Given the description of an element on the screen output the (x, y) to click on. 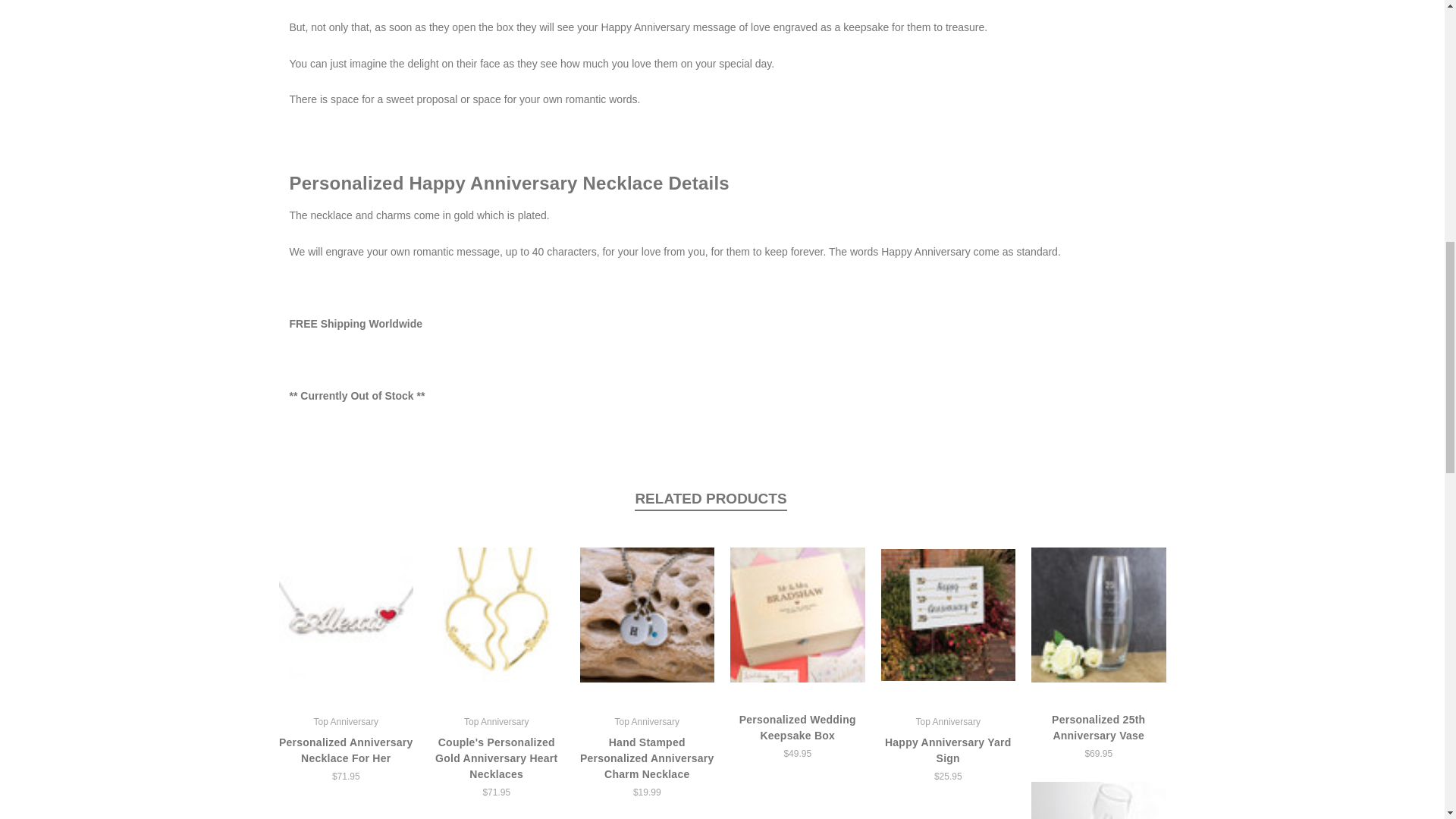
Personalized Anniversary necklace with her name (346, 614)
Personalized anniversary charm necklace. (646, 614)
Couple's two necklaces in one heart in gold (496, 614)
Personalized Wedding Souvenir Box (797, 614)
